Given the description of an element on the screen output the (x, y) to click on. 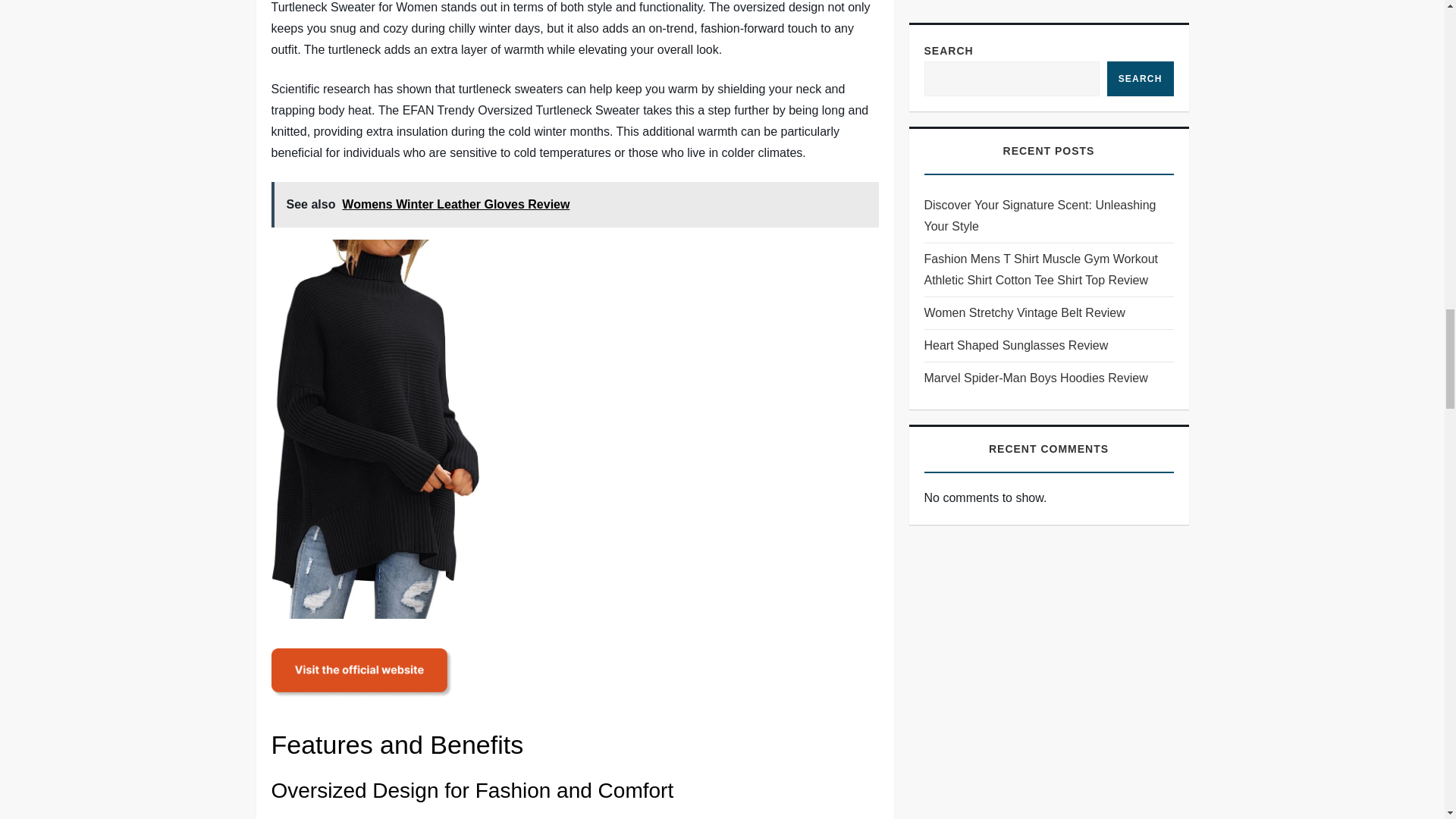
See also  Womens Winter Leather Gloves Review (574, 204)
